Given the description of an element on the screen output the (x, y) to click on. 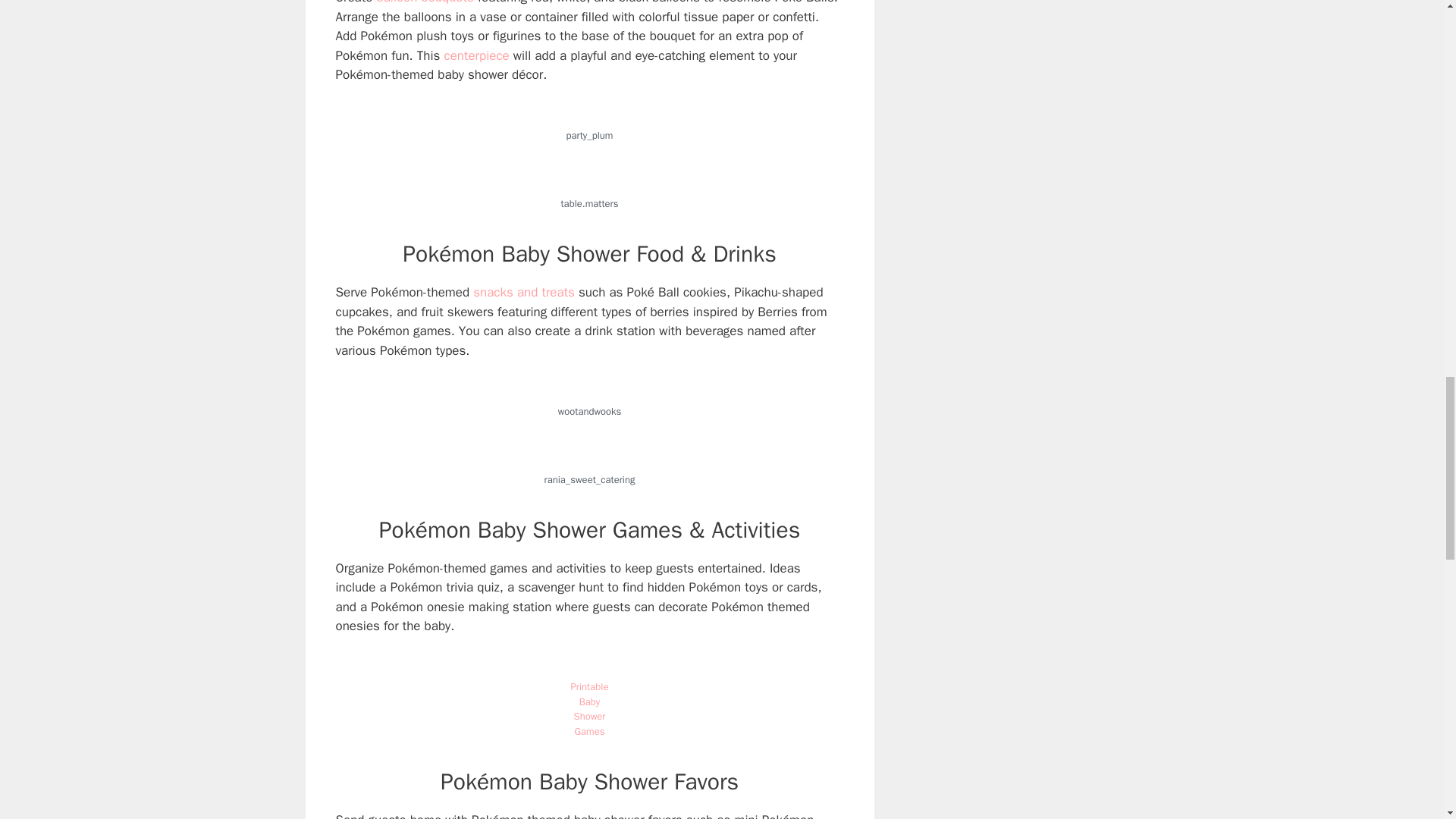
centerpiece (478, 54)
balloon bouquets (424, 2)
snacks and treats (524, 292)
Printable Baby Shower Games (589, 708)
